Given the description of an element on the screen output the (x, y) to click on. 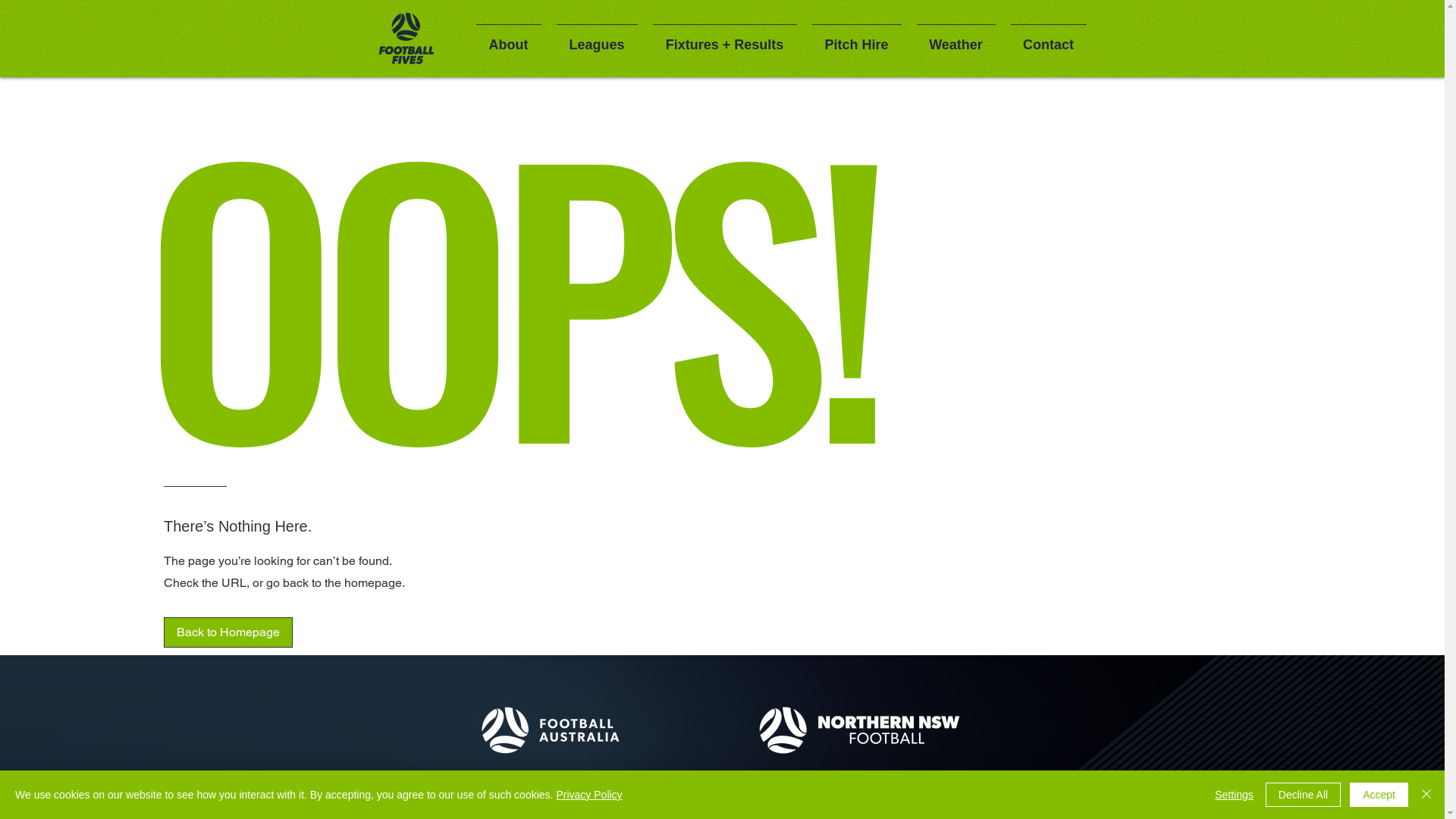
Weather Element type: text (955, 38)
Contact Element type: text (1047, 38)
Accept Element type: text (1378, 794)
Fixtures + Results Element type: text (723, 38)
About Element type: text (508, 38)
Decline All Element type: text (1302, 794)
Back to Homepage Element type: text (227, 632)
Privacy Policy Element type: text (588, 794)
Leagues Element type: text (597, 38)
Pitch Hire Element type: text (855, 38)
